Given the description of an element on the screen output the (x, y) to click on. 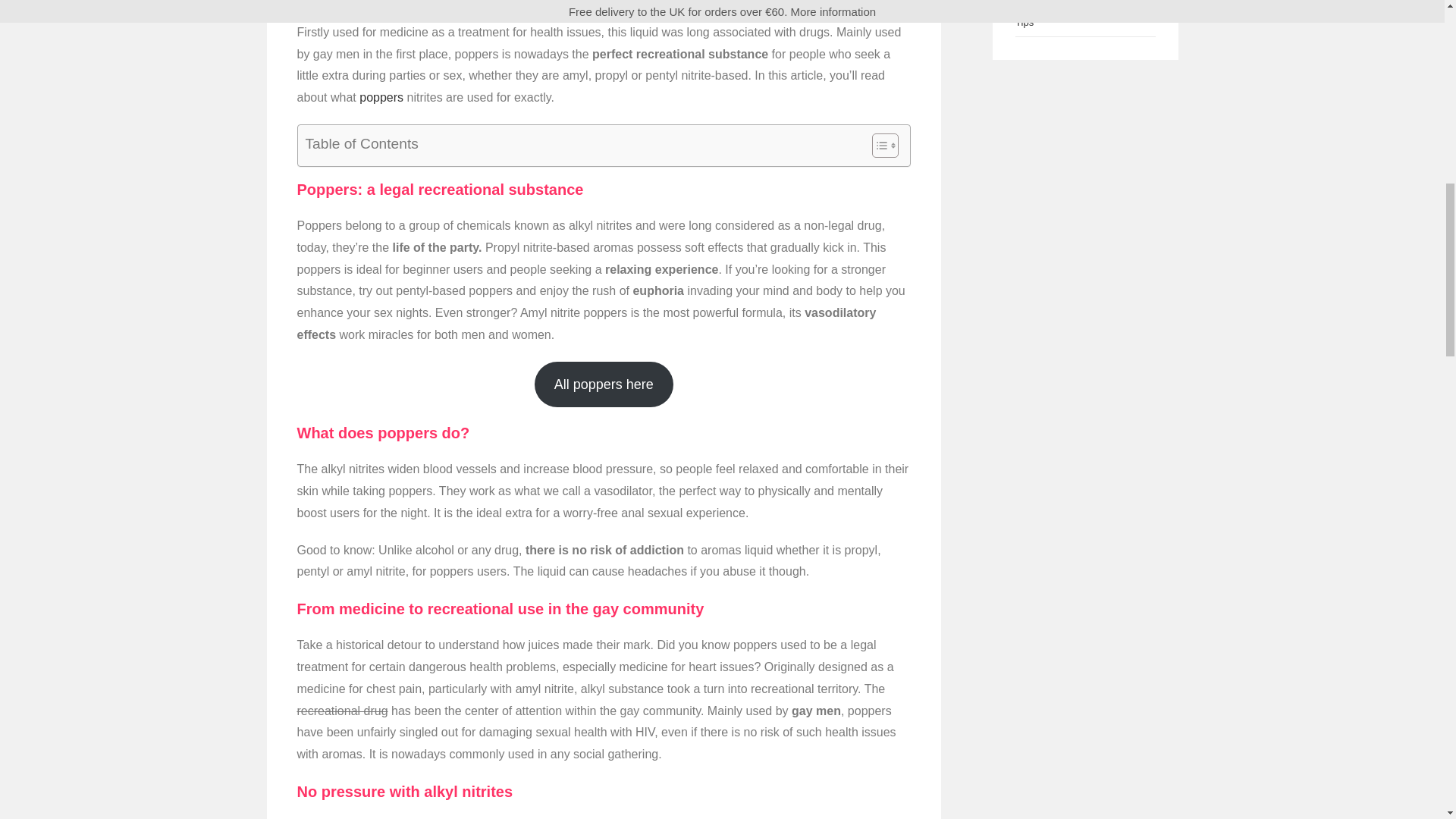
All poppers here (603, 384)
poppers (381, 97)
